Given the description of an element on the screen output the (x, y) to click on. 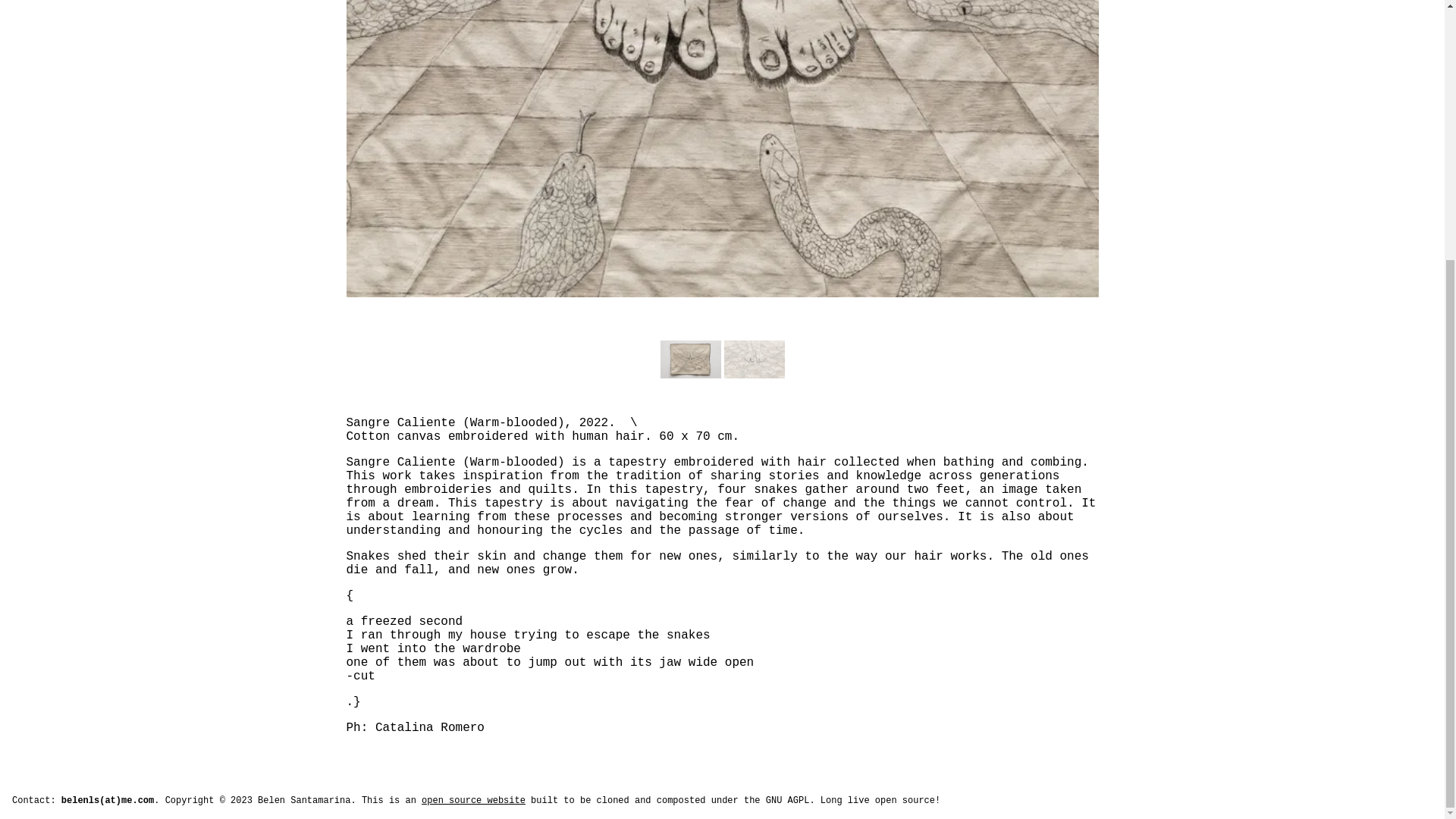
Select photo number 2 (753, 359)
open source website (473, 800)
Select photo number 1 (689, 359)
